Given the description of an element on the screen output the (x, y) to click on. 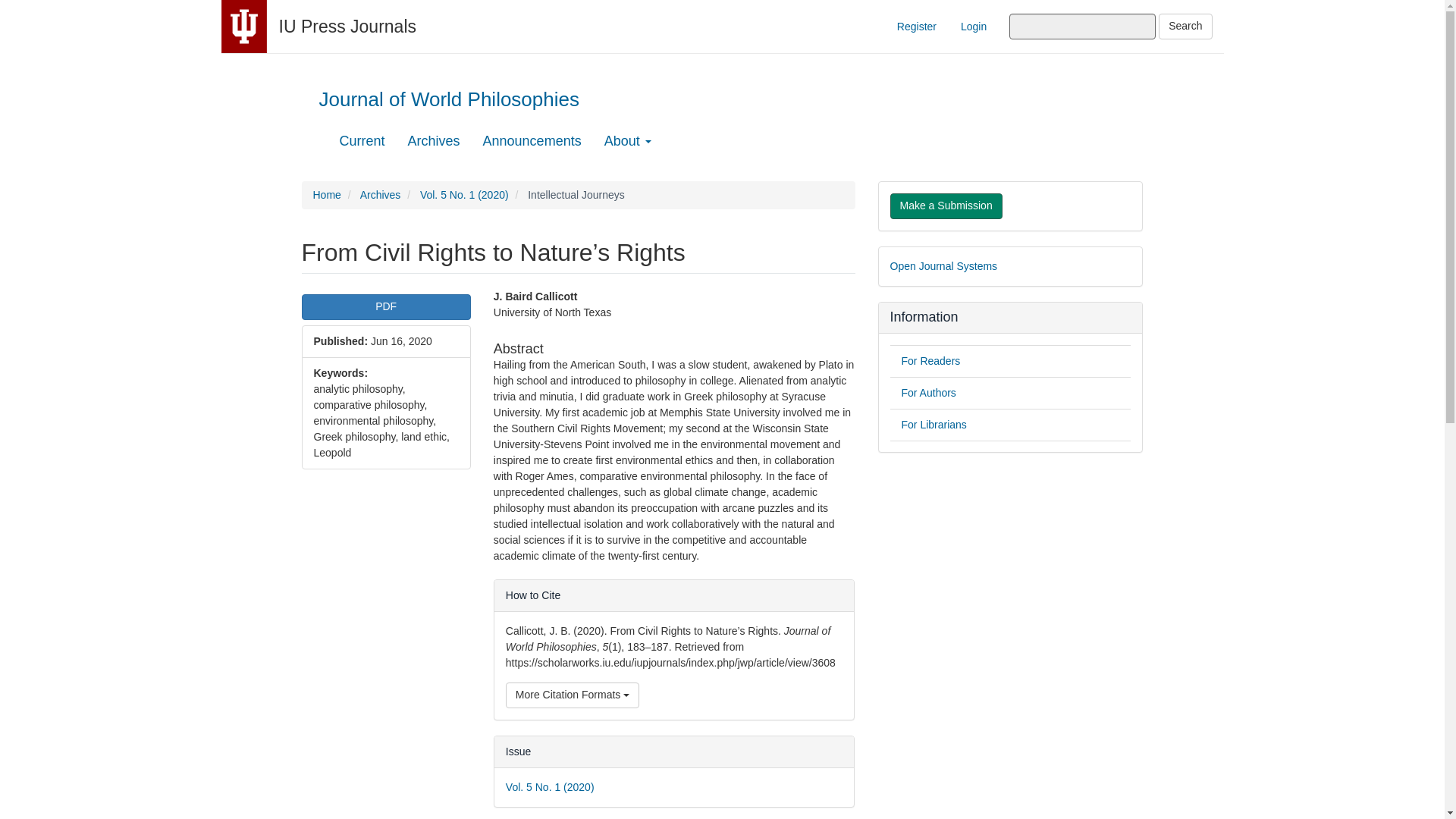
For Authors (928, 392)
IU Press Journals (347, 26)
Login (973, 25)
Search (1184, 26)
For Librarians (933, 424)
Archives (433, 140)
Make a Submission (946, 206)
PDF (385, 307)
Announcements (531, 140)
Journal of World Philosophies (449, 103)
Open Journal Systems (943, 265)
Indiana University Logo (243, 26)
Register (916, 25)
More Citation Formats (572, 695)
Current (361, 140)
